Given the description of an element on the screen output the (x, y) to click on. 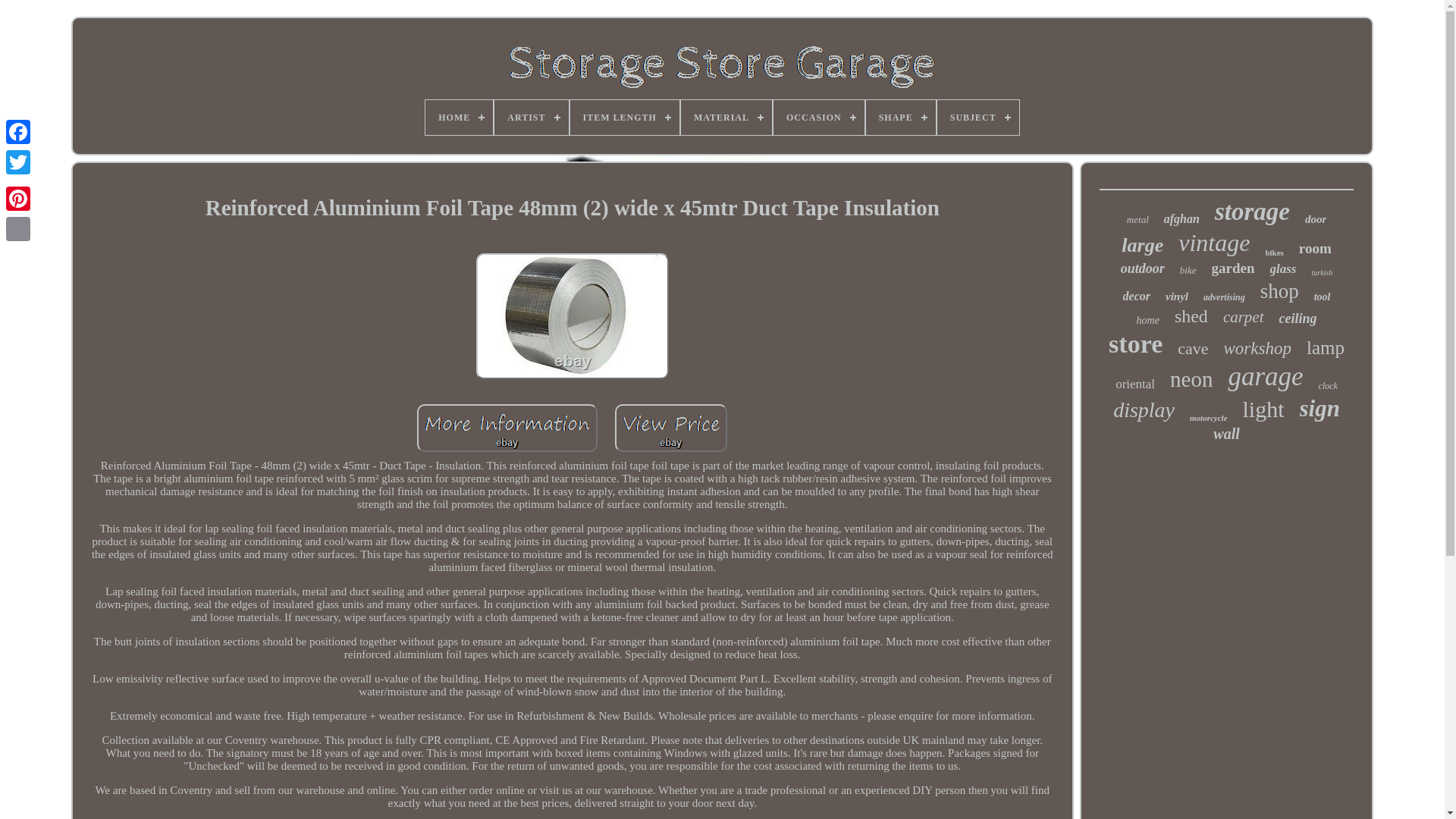
GAS (557, 117)
ITEM WEIGHT (642, 117)
MAKE (731, 117)
HOME (494, 117)
